Given the description of an element on the screen output the (x, y) to click on. 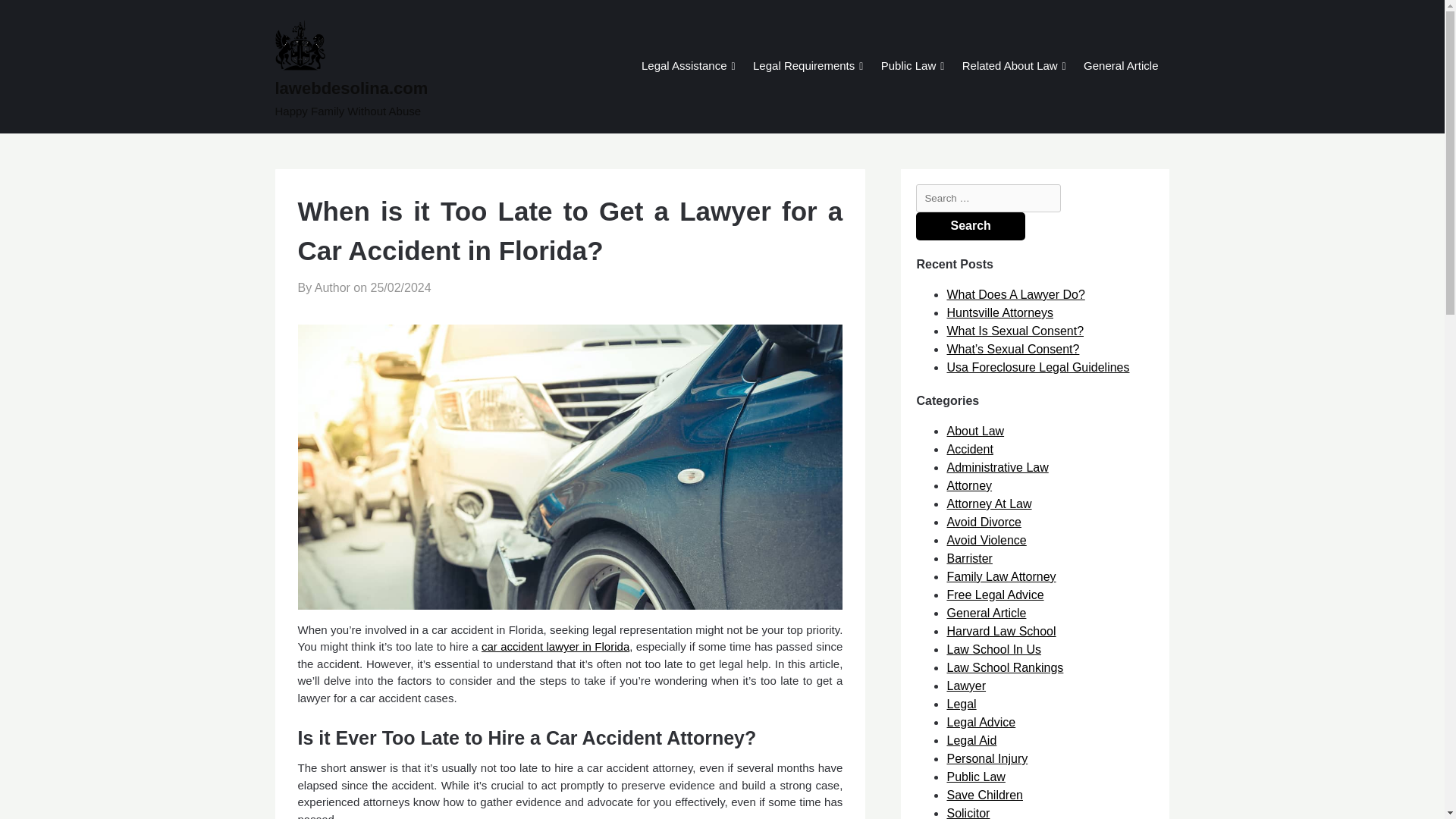
Legal Requirements (803, 66)
Public Law (908, 66)
Search (970, 226)
Legal Assistance (684, 66)
General Article (1120, 66)
car accident lawyer in Florida (554, 645)
lawebdesolina.com (409, 88)
Search (970, 226)
Related About Law (1009, 66)
